Given the description of an element on the screen output the (x, y) to click on. 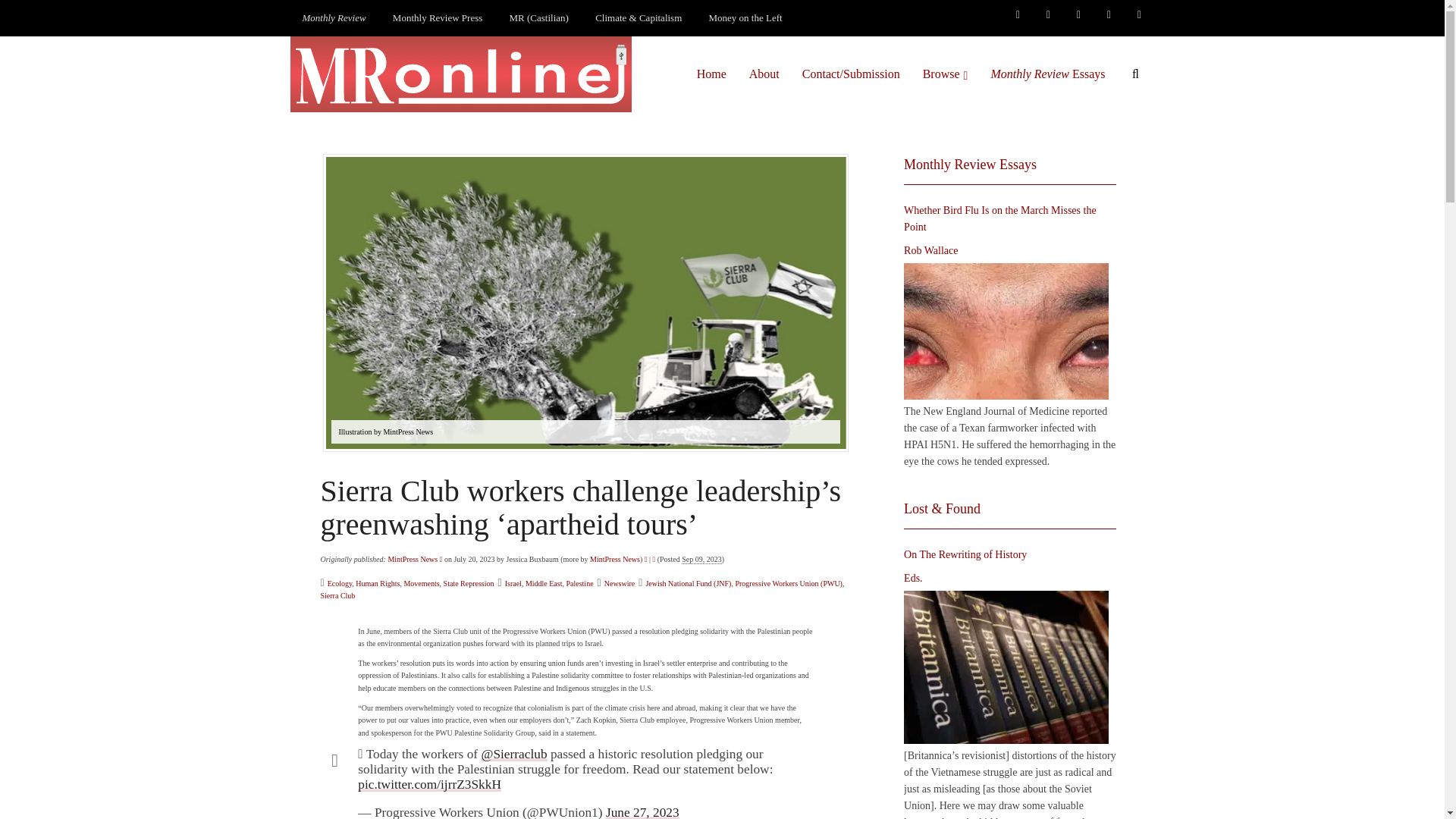
Money on the Left (745, 18)
Browse (945, 74)
Posts by Rob Wallace (931, 250)
Posts by Eds. (913, 578)
Monthly Review Magazine (333, 18)
Monthly Review Press (437, 18)
Whether Bird Flu Is on the March Misses the Point (1006, 330)
On The Rewriting of History (1006, 666)
Monthly Review (333, 18)
